Given the description of an element on the screen output the (x, y) to click on. 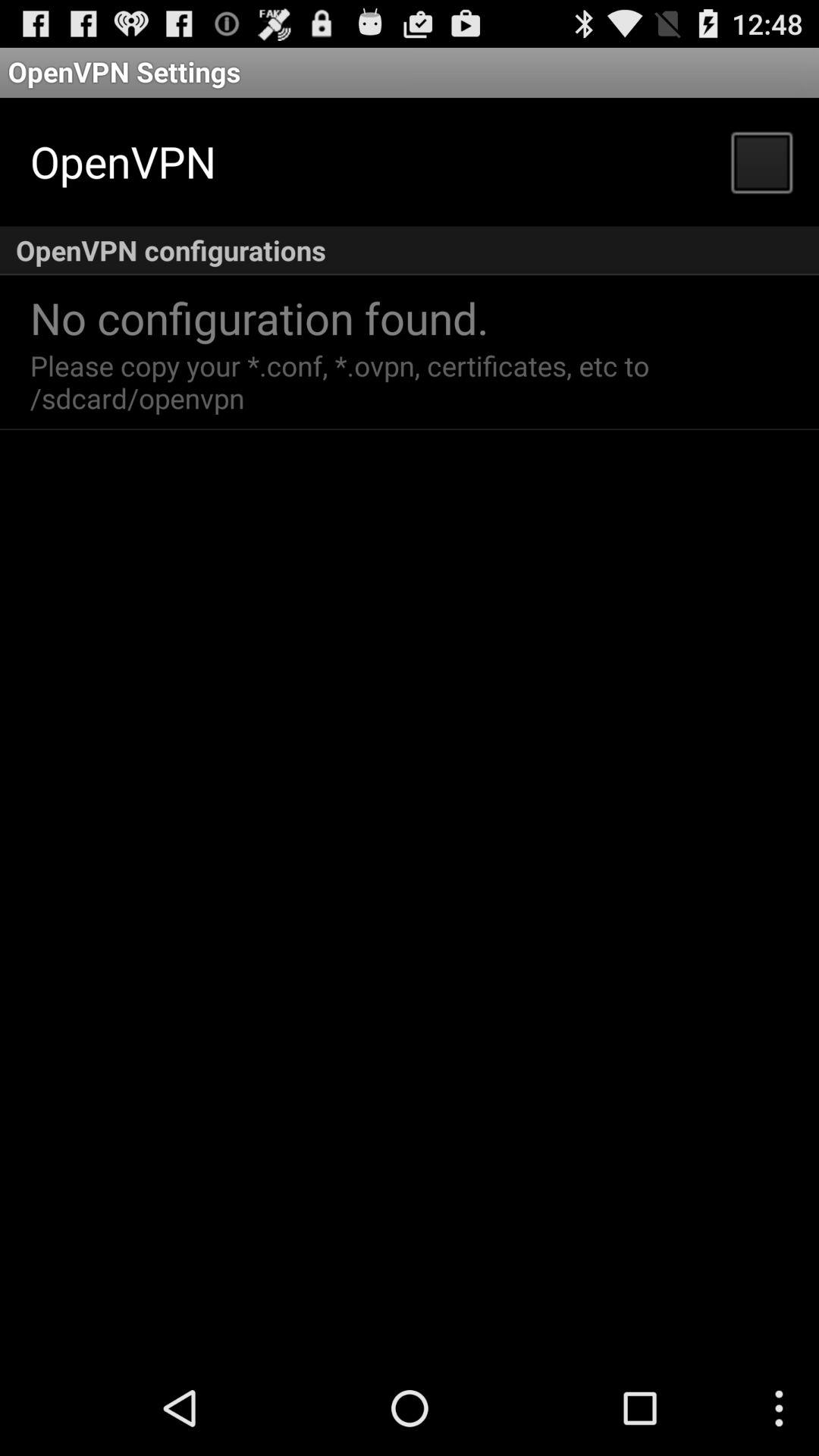
tap the app below the no configuration found. icon (344, 381)
